Given the description of an element on the screen output the (x, y) to click on. 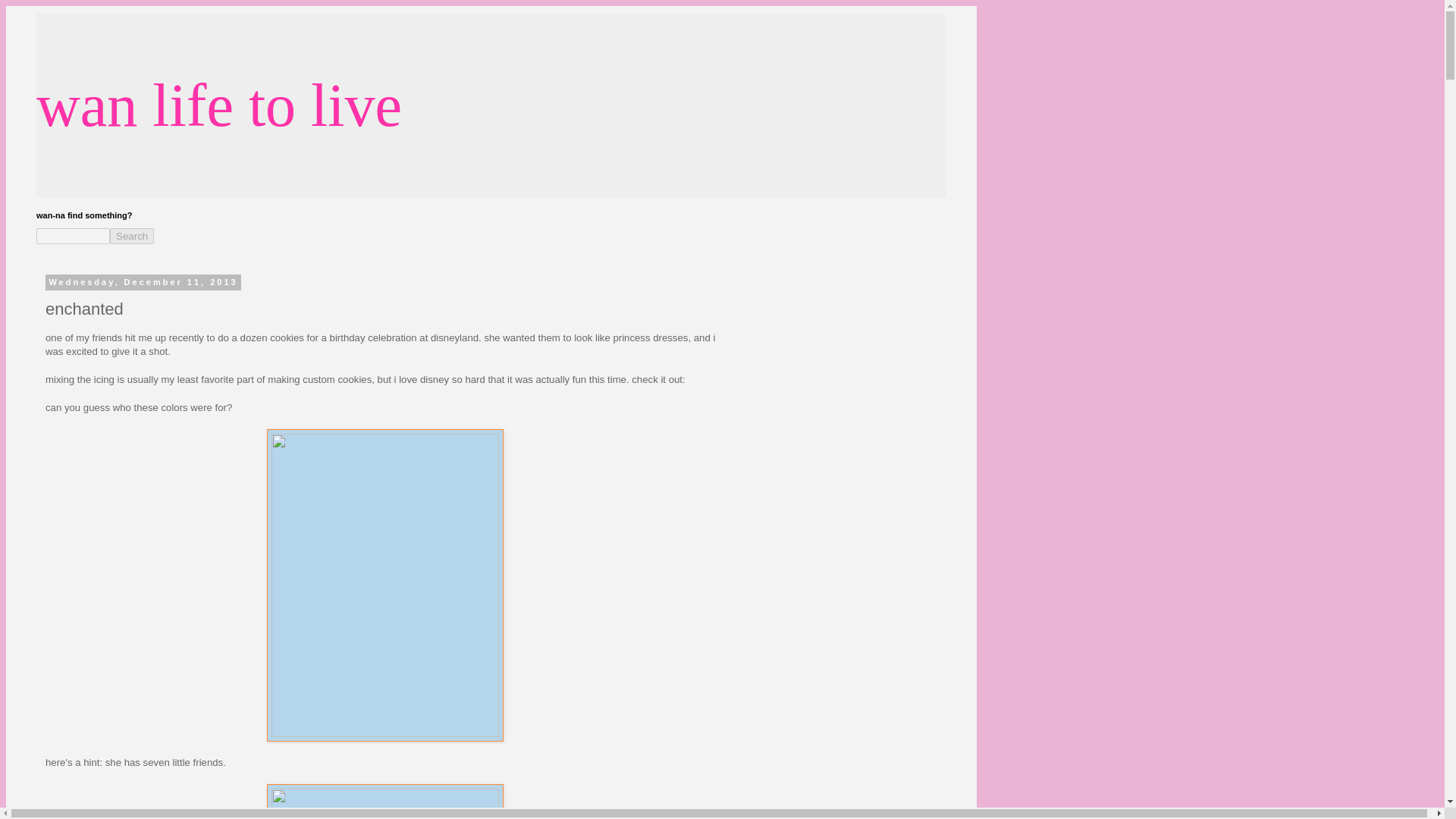
search (73, 236)
Search (132, 236)
wan life to live (218, 105)
Search (132, 236)
search (132, 236)
Search (132, 236)
